Given the description of an element on the screen output the (x, y) to click on. 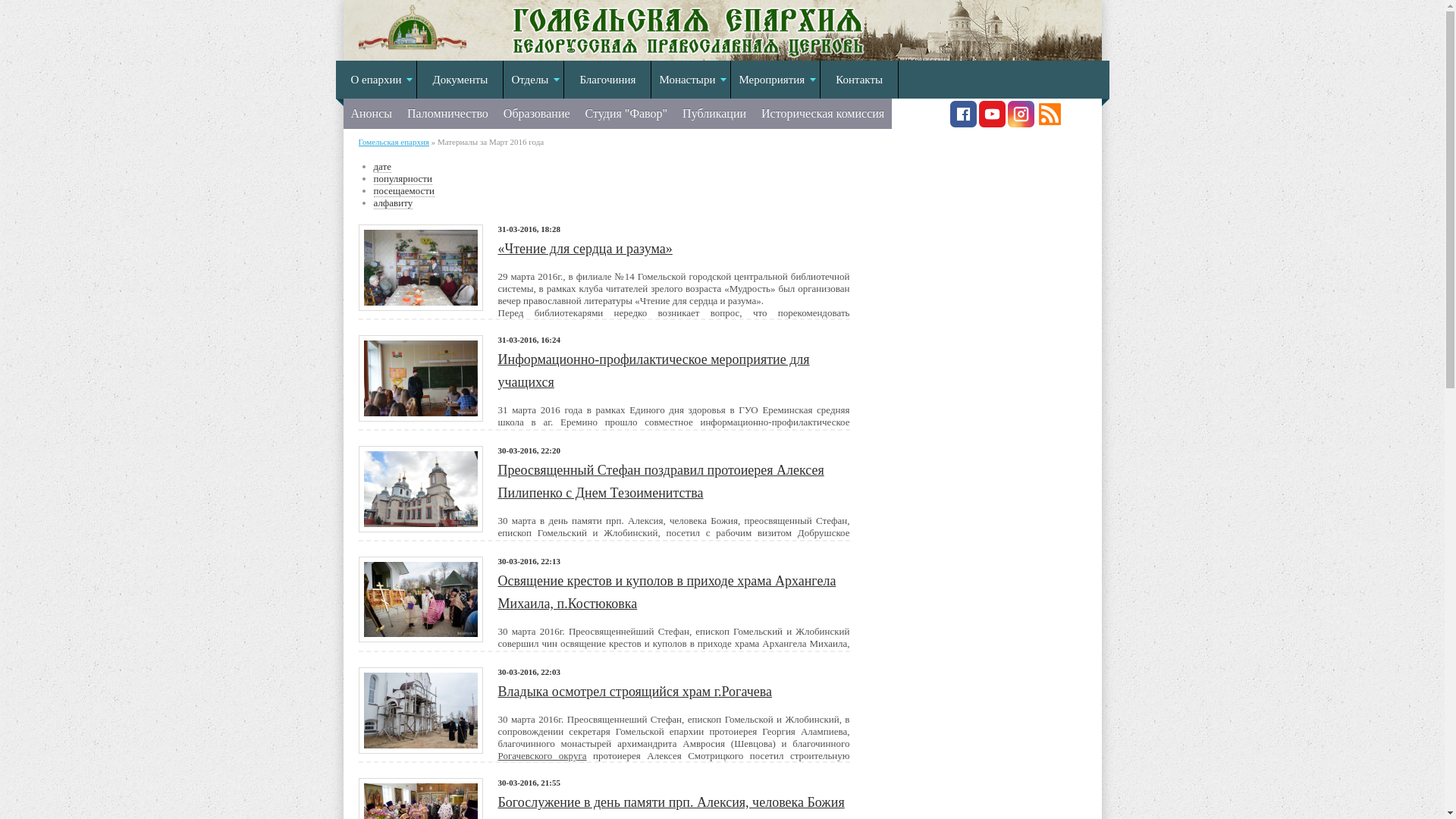
youtube Element type: hover (992, 123)
Facebook Element type: hover (962, 123)
